Given the description of an element on the screen output the (x, y) to click on. 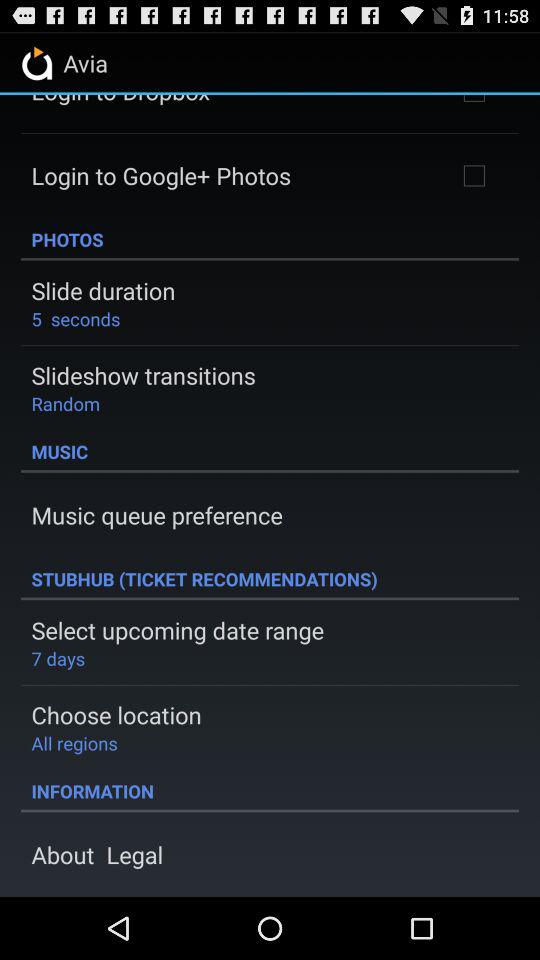
launch the app below the 7 days (116, 714)
